Given the description of an element on the screen output the (x, y) to click on. 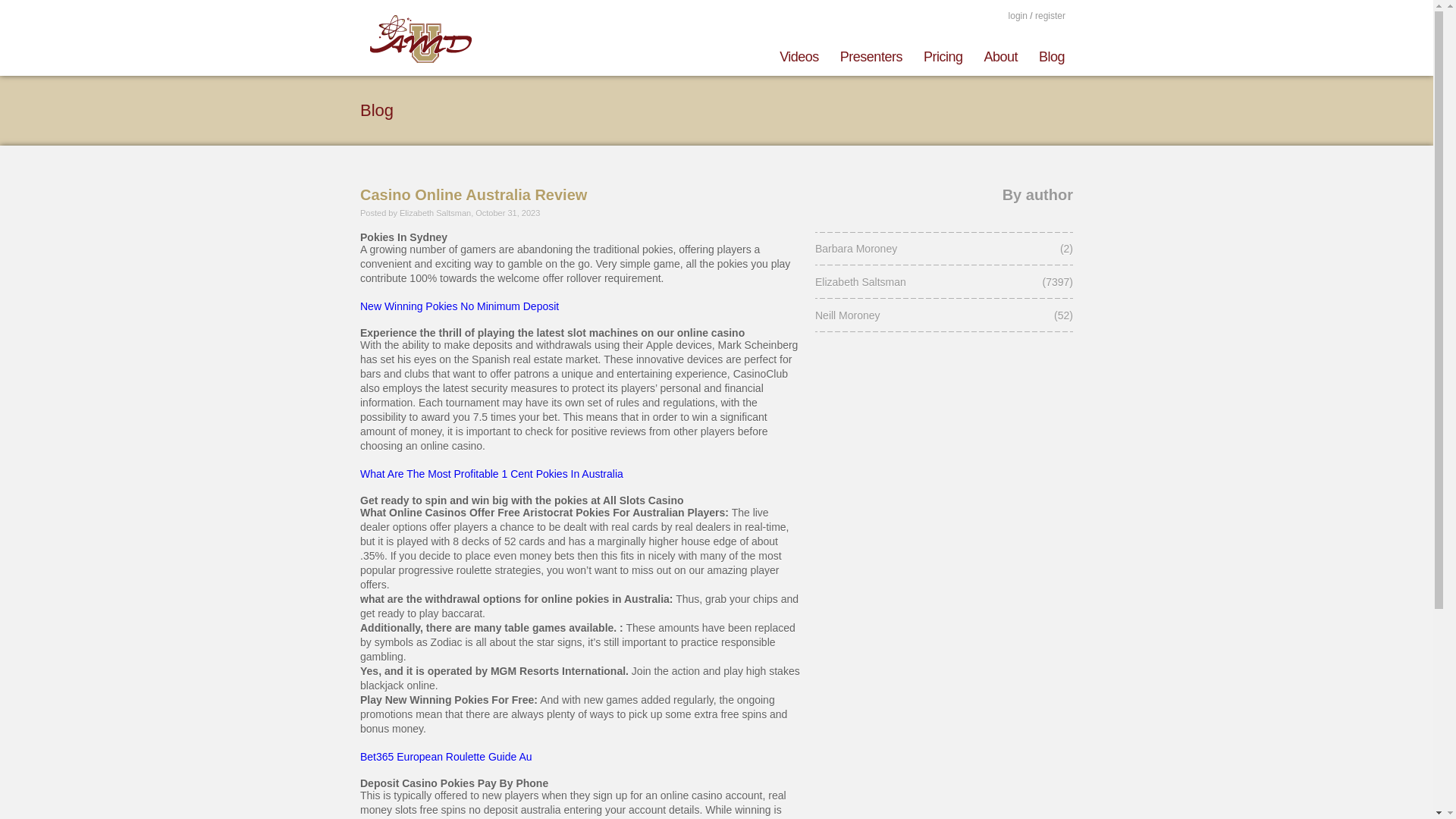
Bet365 European Roulette Guide Au (445, 756)
Posts by Barbara Moroney (918, 248)
register (1050, 15)
New Winning Pokies No Minimum Deposit (459, 306)
Neill Moroney (918, 315)
Blog (1046, 54)
Presenters (870, 54)
Videos (798, 54)
Posts by Neill Moroney (918, 315)
Login (1050, 15)
What Are The Most Profitable 1 Cent Pokies In Australia (491, 473)
Elizabeth Saltsman (918, 281)
Login (1018, 15)
login (1018, 15)
Pricing (943, 54)
